Given the description of an element on the screen output the (x, y) to click on. 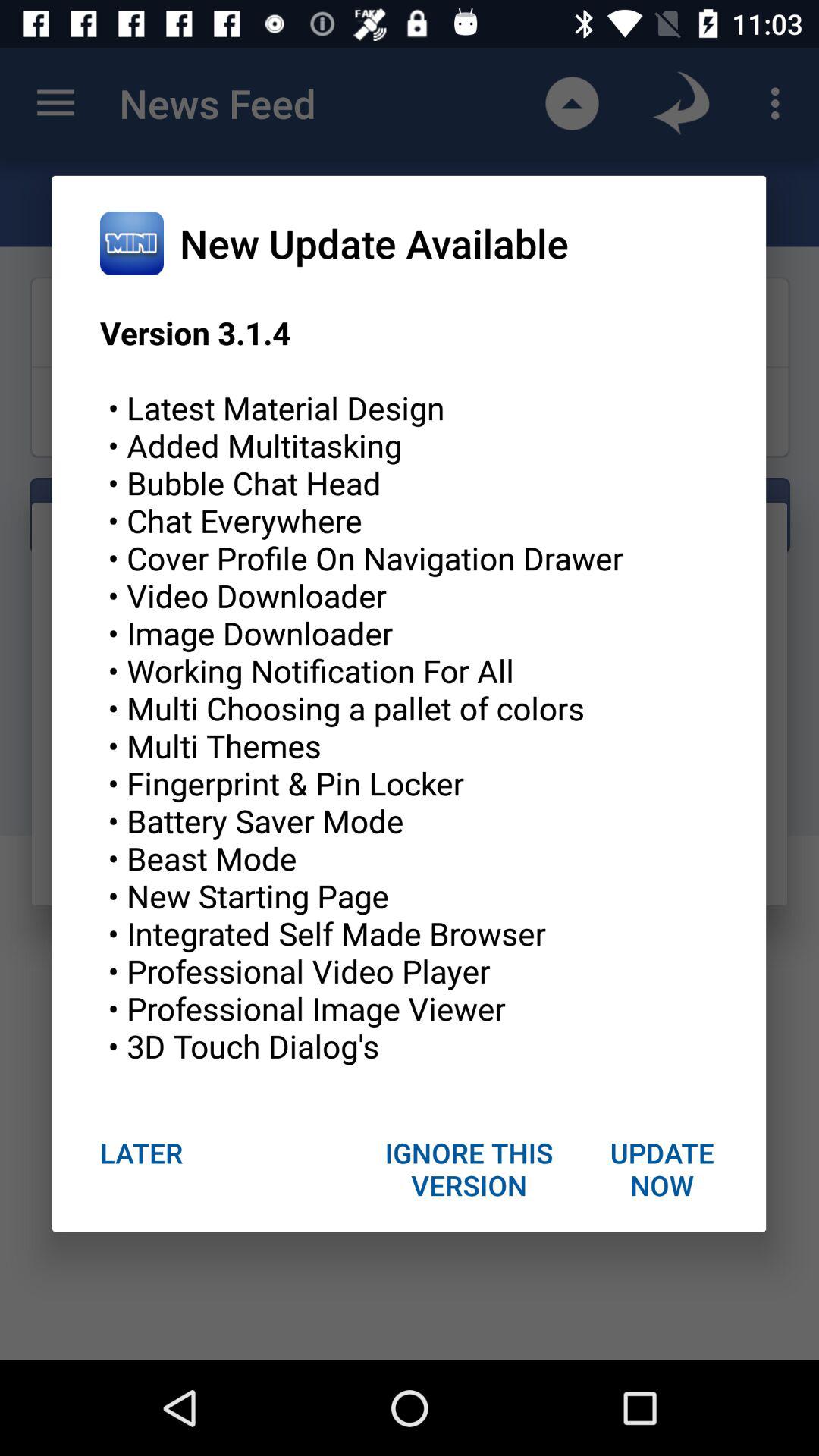
turn on icon below the version 3 1 icon (469, 1168)
